Given the description of an element on the screen output the (x, y) to click on. 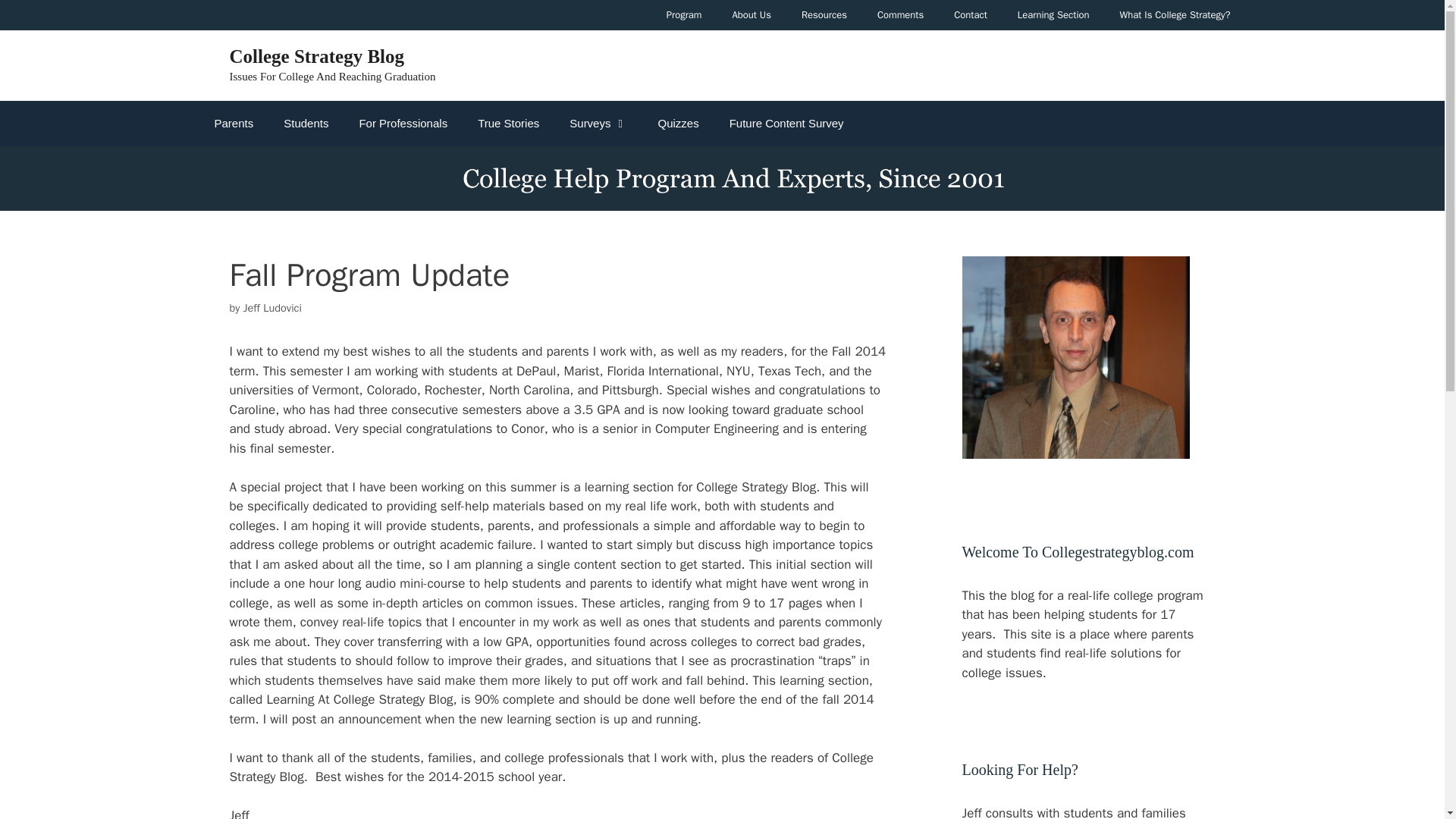
Resources (823, 15)
For Professionals (403, 122)
College Strategy Blog (316, 55)
What Is College Strategy? (1175, 15)
Learning Section (1054, 15)
Jeff Ludovici (272, 307)
View all posts by Jeff Ludovici (272, 307)
About Us (751, 15)
True Stories (508, 122)
Quizzes (677, 122)
Future Content Survey (786, 122)
Parents (232, 122)
Students (305, 122)
Comments (900, 15)
Program (683, 15)
